Given the description of an element on the screen output the (x, y) to click on. 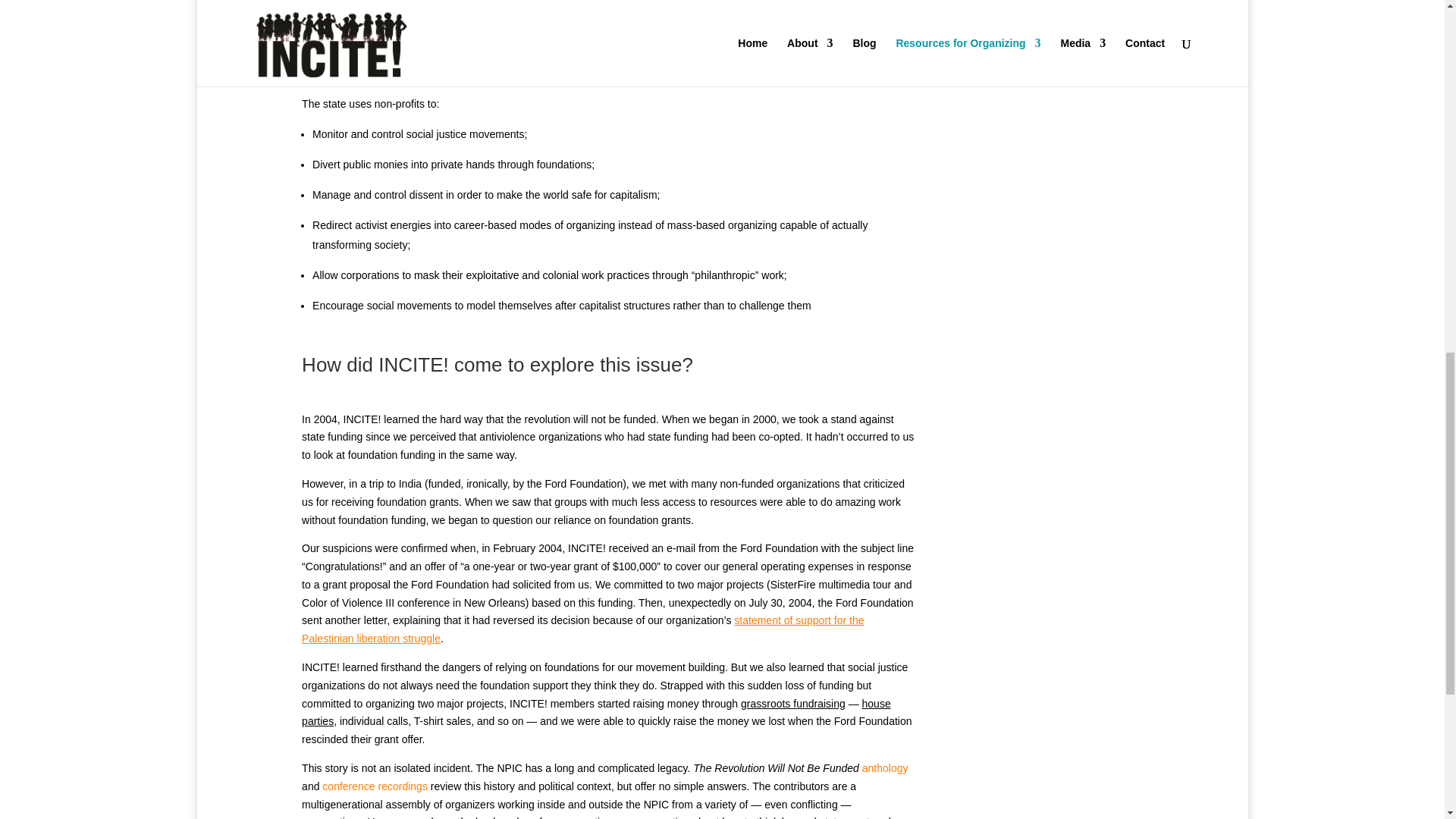
conference recordings (374, 786)
anthology (884, 767)
statement of support for the Palestinian liberation struggle (582, 629)
